Given the description of an element on the screen output the (x, y) to click on. 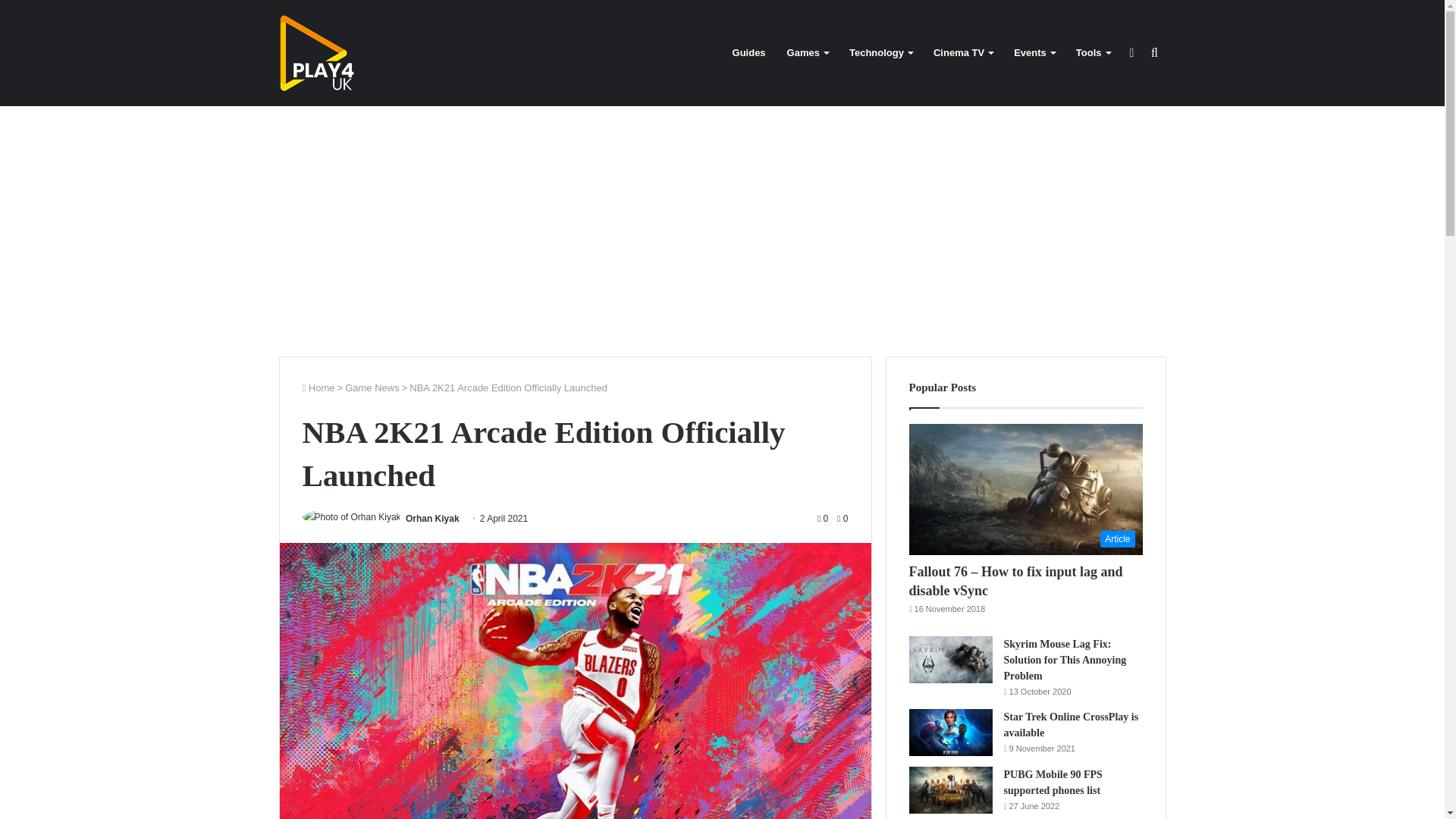
Orhan Kiyak (433, 518)
Orhan Kiyak (433, 518)
Home (317, 387)
Fallout 76 - How to fix input lag and disable vSync 6 (1025, 489)
Game News (371, 387)
PLAY4UK (317, 52)
